Given the description of an element on the screen output the (x, y) to click on. 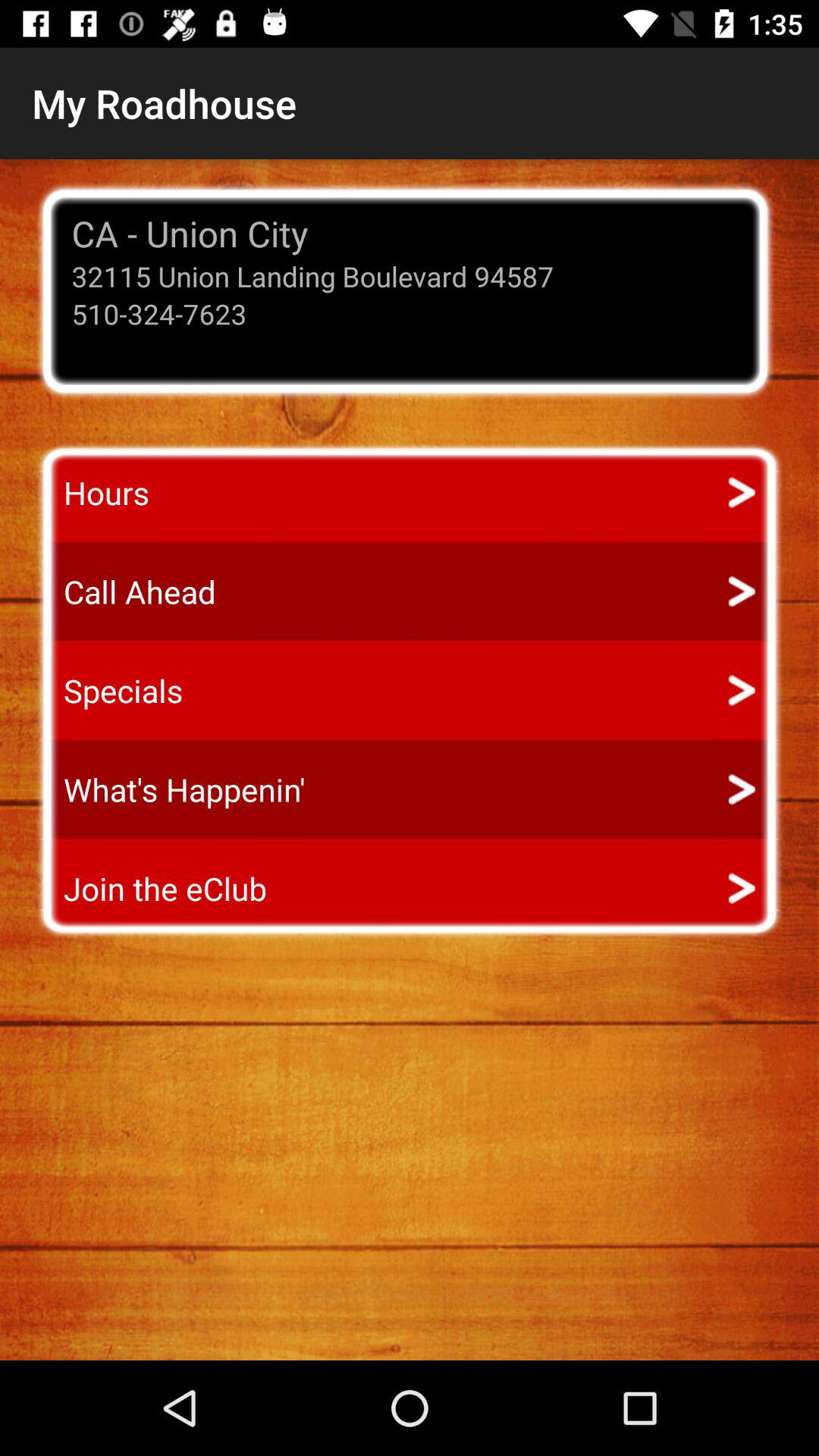
open item below call ahead app (109, 690)
